Given the description of an element on the screen output the (x, y) to click on. 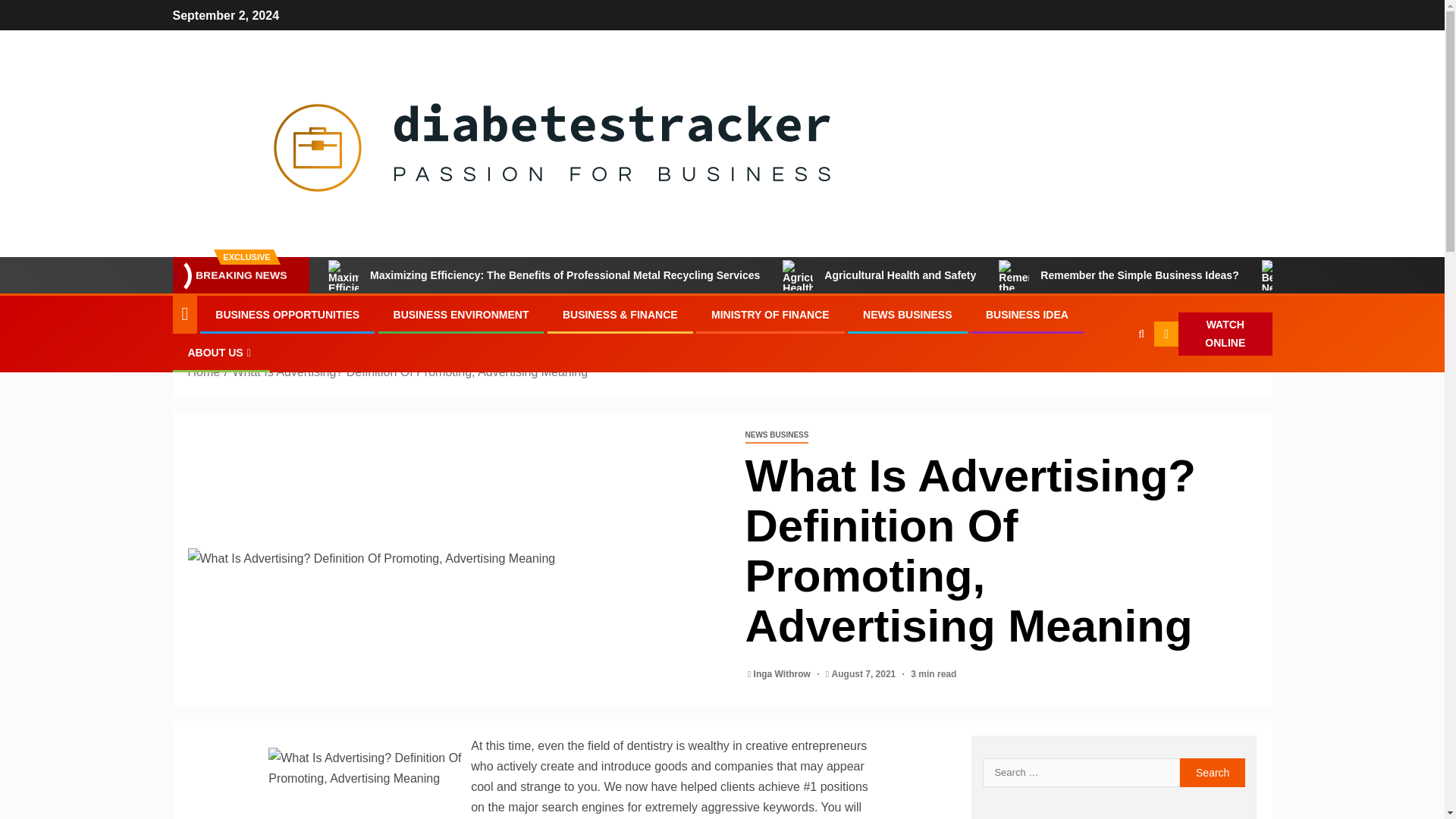
Home (204, 371)
Search (1212, 772)
ABOUT US (220, 352)
MINISTRY OF FINANCE (770, 314)
NEWS BUSINESS (907, 314)
NEWS BUSINESS (776, 435)
Search (1111, 380)
